Given the description of an element on the screen output the (x, y) to click on. 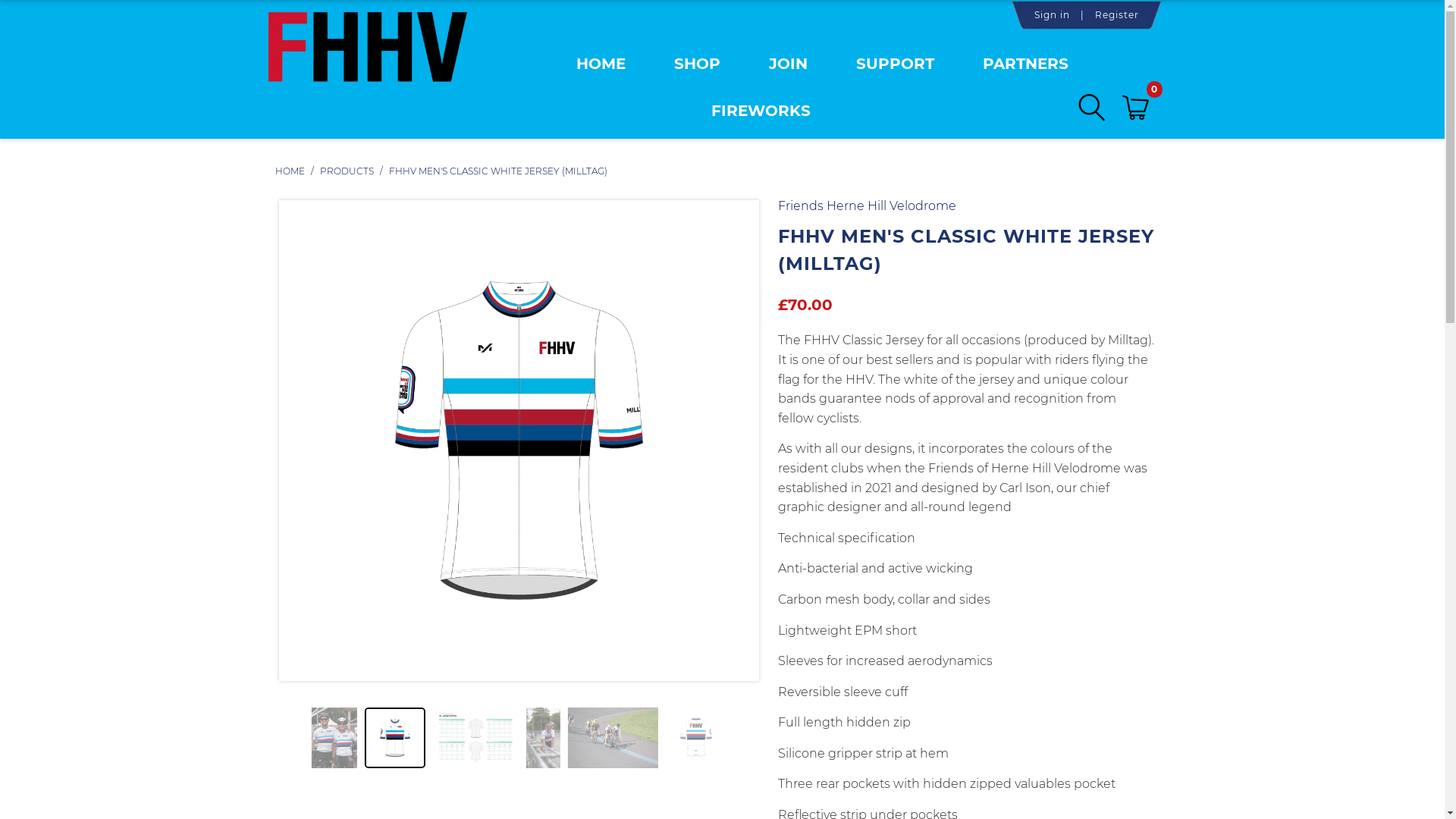
HOME Element type: text (600, 68)
Sign in Element type: text (1052, 15)
0 Element type: text (1139, 107)
Search Element type: hover (1092, 107)
SHOP Element type: text (697, 68)
PRODUCTS Element type: text (348, 170)
| Element type: text (1081, 15)
HOME Element type: text (289, 170)
JOIN Element type: text (787, 68)
Friends of Herne Hill Velodrome Element type: hover (366, 63)
PARTNERS Element type: text (1025, 68)
FIREWORKS Element type: text (760, 115)
Friends Herne Hill Velodrome Element type: text (867, 205)
SUPPORT Element type: text (895, 68)
Register Element type: text (1117, 15)
FHHV MEN'S CLASSIC WHITE JERSEY (MILLTAG) Element type: text (497, 170)
